Given the description of an element on the screen output the (x, y) to click on. 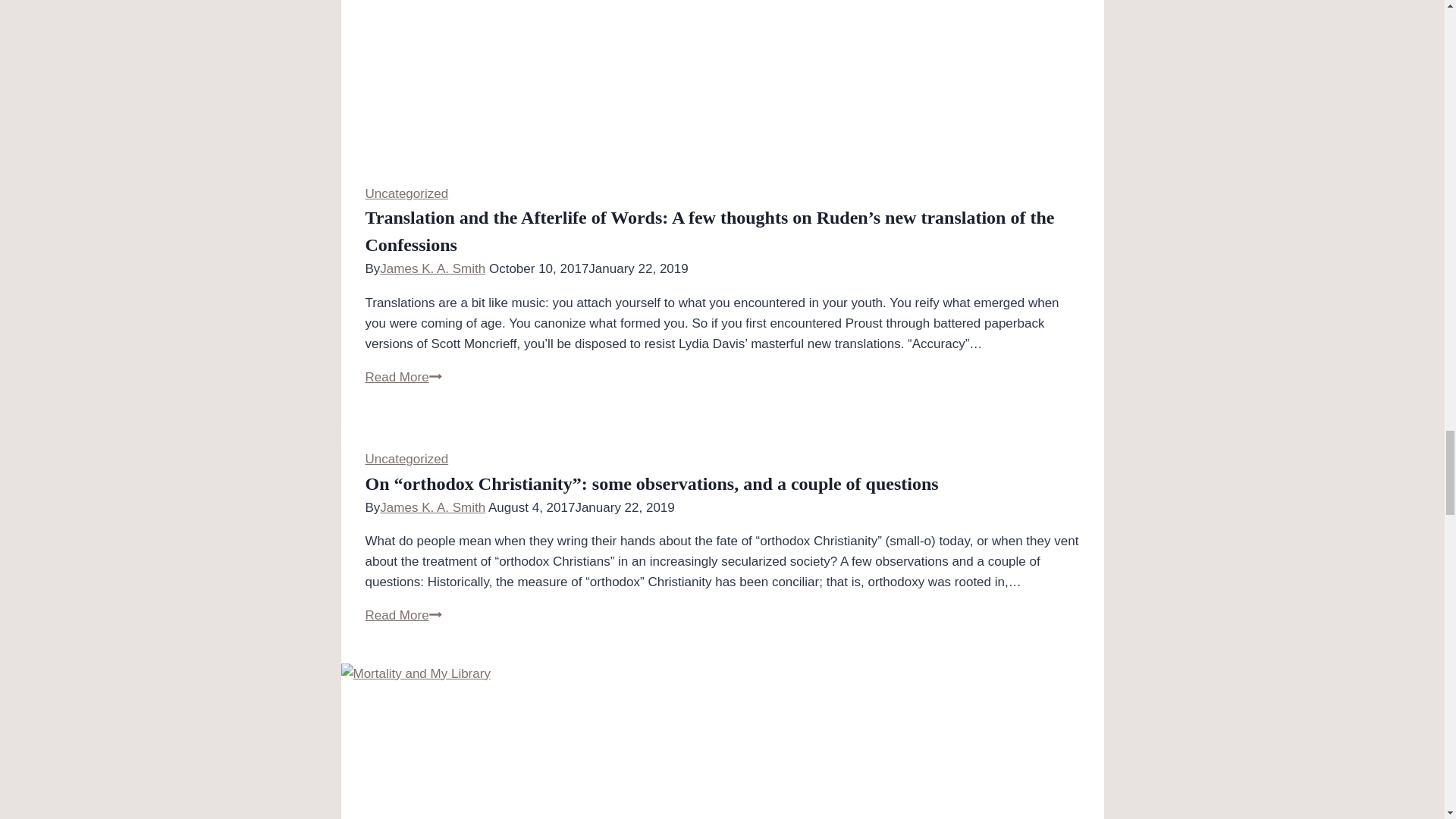
James K. A. Smith (432, 268)
Uncategorized (406, 193)
Uncategorized (406, 459)
James K. A. Smith (432, 507)
